Given the description of an element on the screen output the (x, y) to click on. 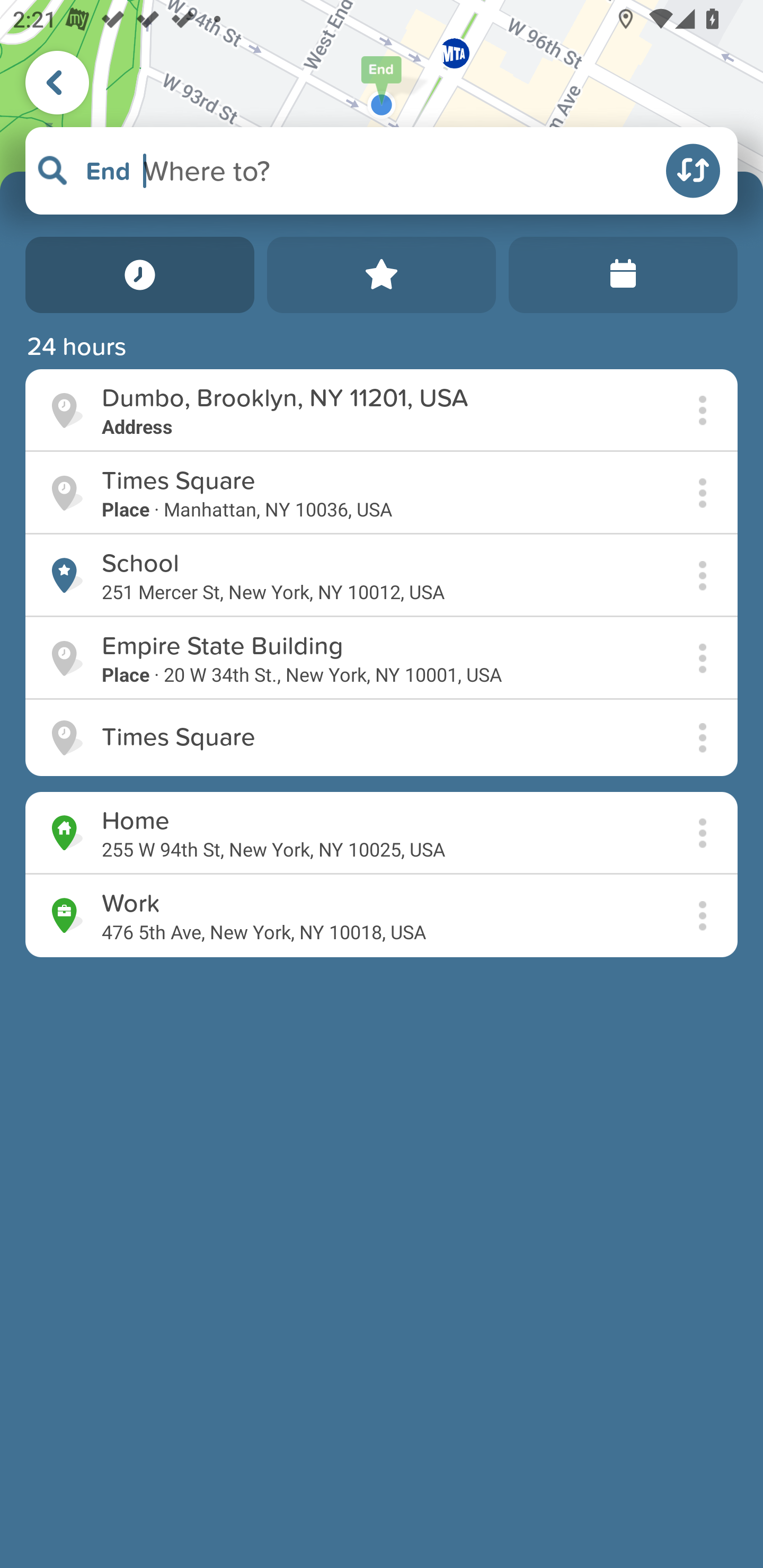
Saved (381, 274)
